Given the description of an element on the screen output the (x, y) to click on. 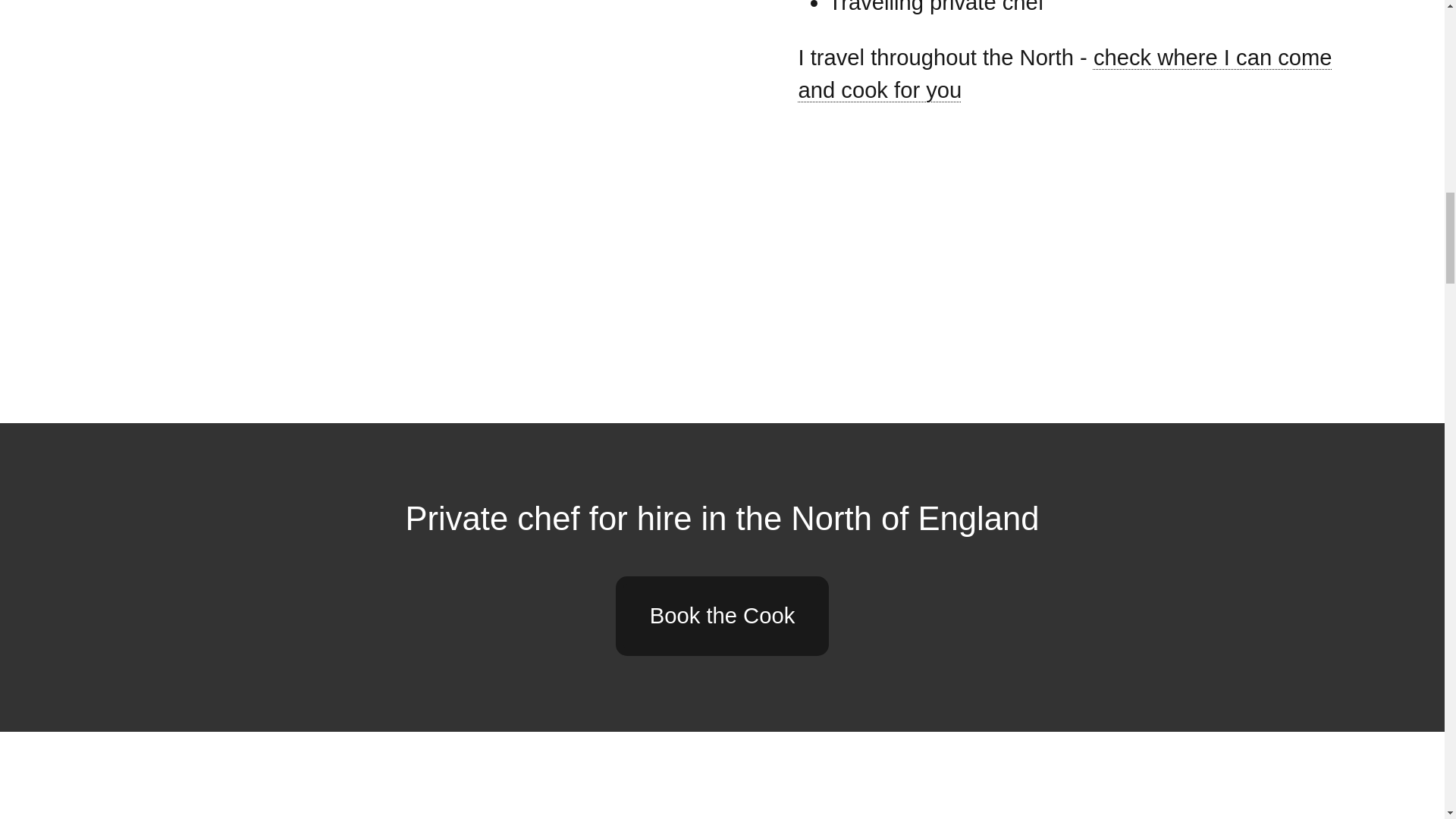
Book the Cook (721, 616)
Private chef near me (935, 7)
check where I can come and cook for you (1064, 74)
Travelling private chef (935, 7)
